Given the description of an element on the screen output the (x, y) to click on. 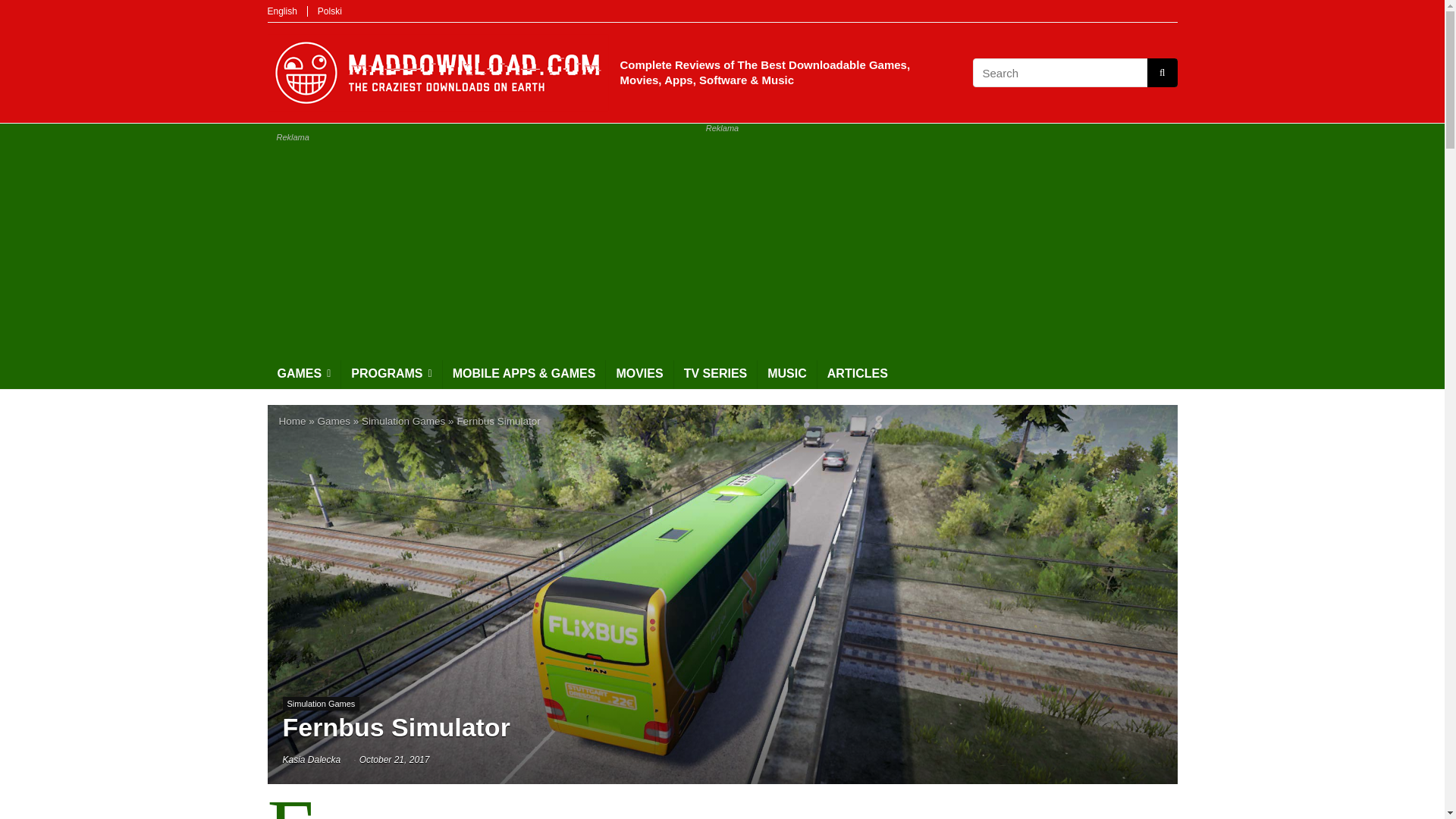
Games (333, 420)
MOVIES (638, 374)
Simulation Games (403, 420)
Simulation Games (320, 703)
Polski (329, 10)
English (281, 10)
TV SERIES (715, 374)
GAMES (303, 374)
PROGRAMS (390, 374)
View all posts in Simulation Games (320, 703)
